Given the description of an element on the screen output the (x, y) to click on. 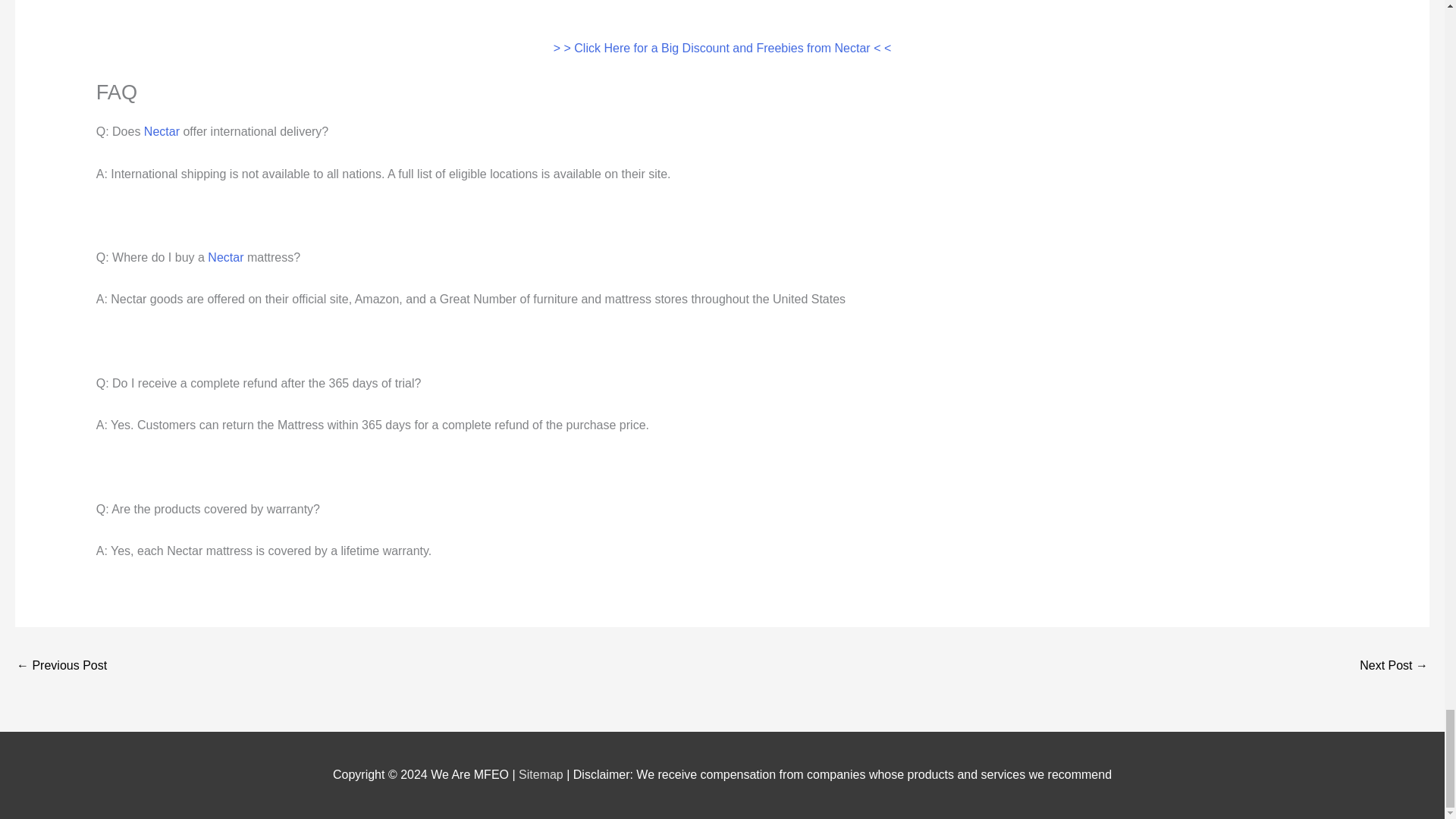
Nectar (161, 131)
Sitemap (542, 774)
Nectar Bed Sheet Reviews (1393, 666)
Black Friday Nectar Mattress Sale 2023 (61, 666)
Nectar (225, 256)
